Given the description of an element on the screen output the (x, y) to click on. 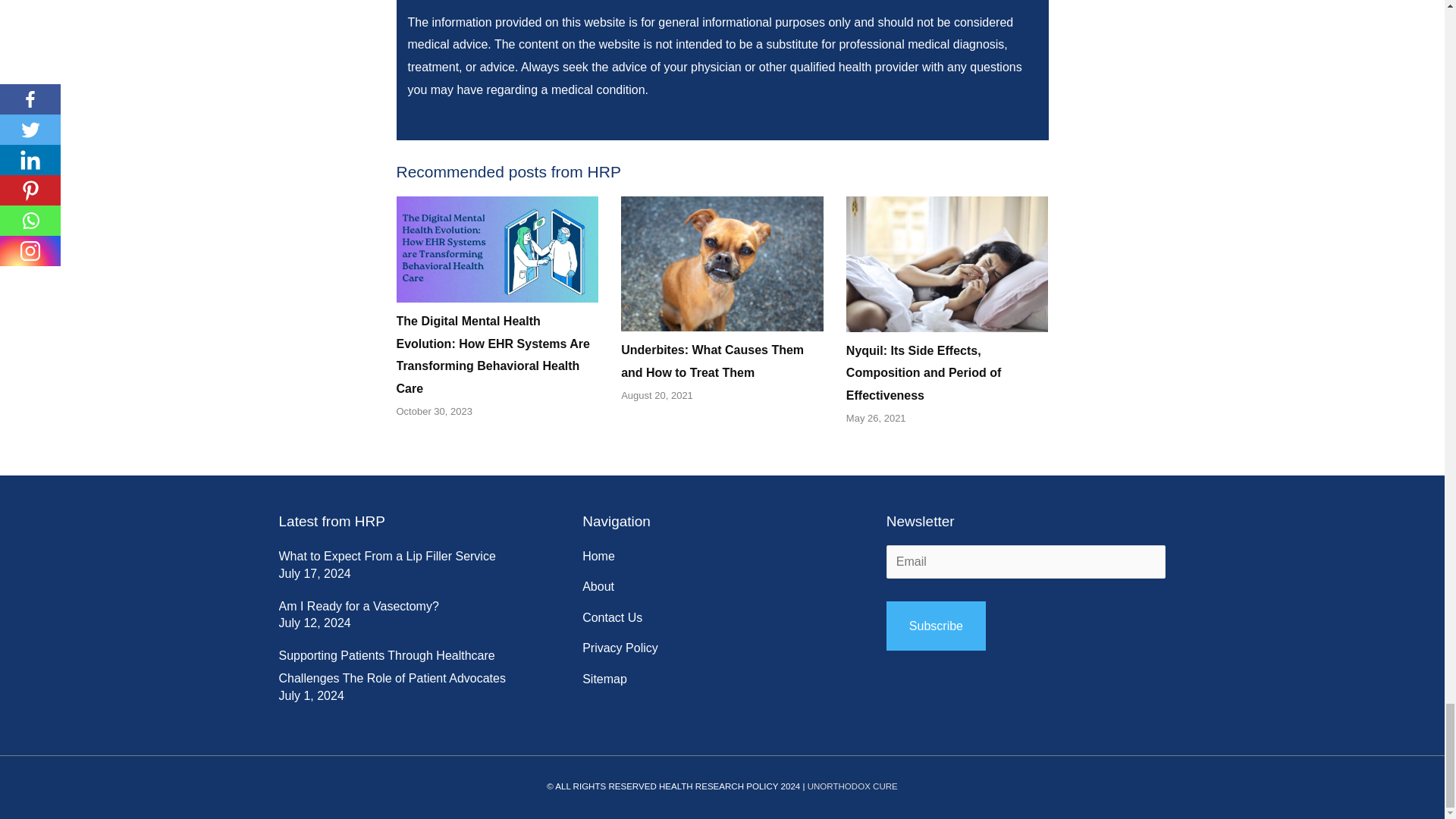
Underbites: What Causes Them and How to Treat Them (712, 361)
Home (598, 556)
Am I Ready for a Vasectomy? (359, 605)
About (598, 586)
Contact Us (612, 617)
Subscribe (935, 626)
What to Expect From a Lip Filler Service (387, 555)
